Given the description of an element on the screen output the (x, y) to click on. 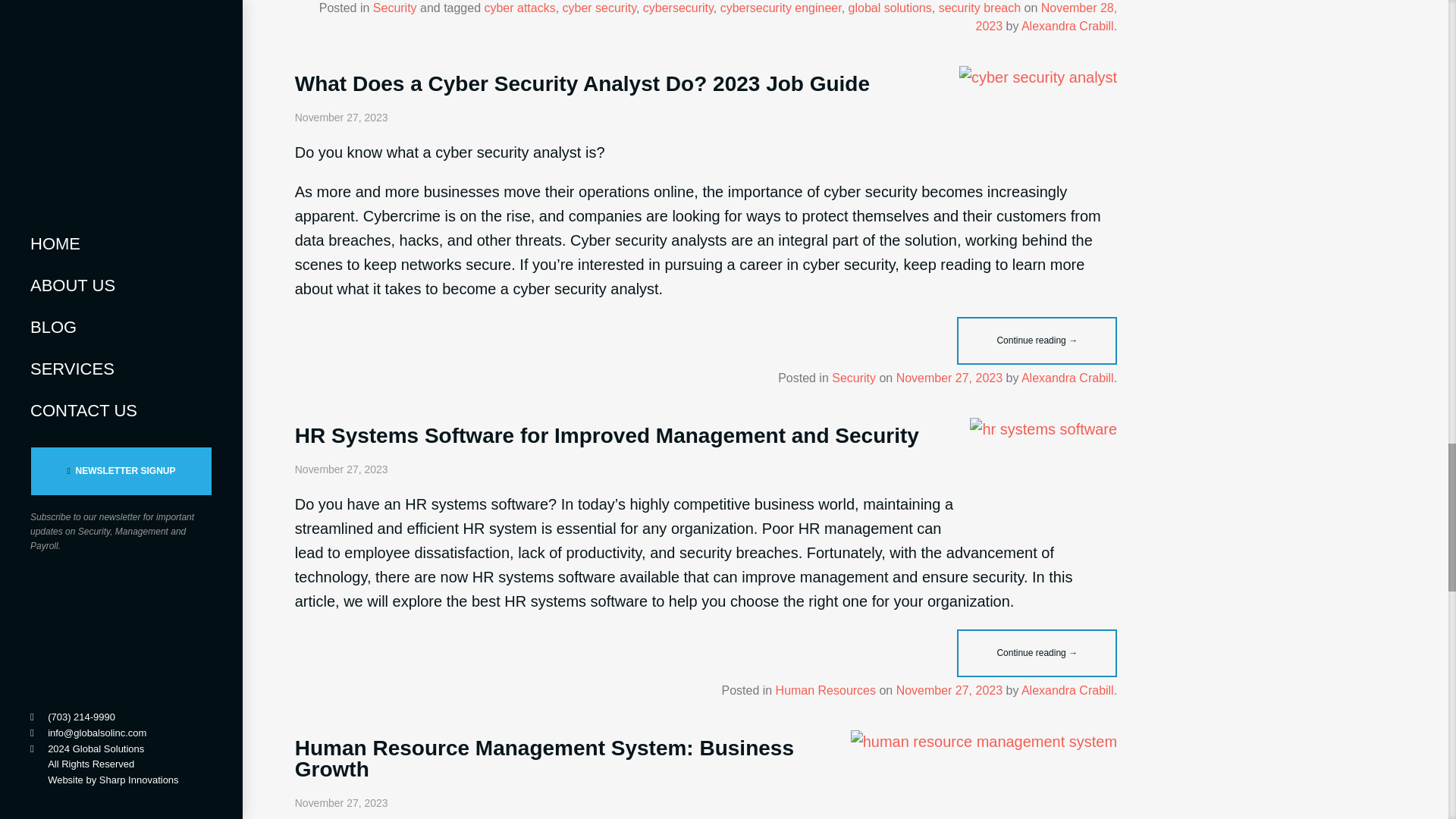
12:12 pm (1045, 16)
View all posts by Alexandra Crabill (1067, 25)
